Given the description of an element on the screen output the (x, y) to click on. 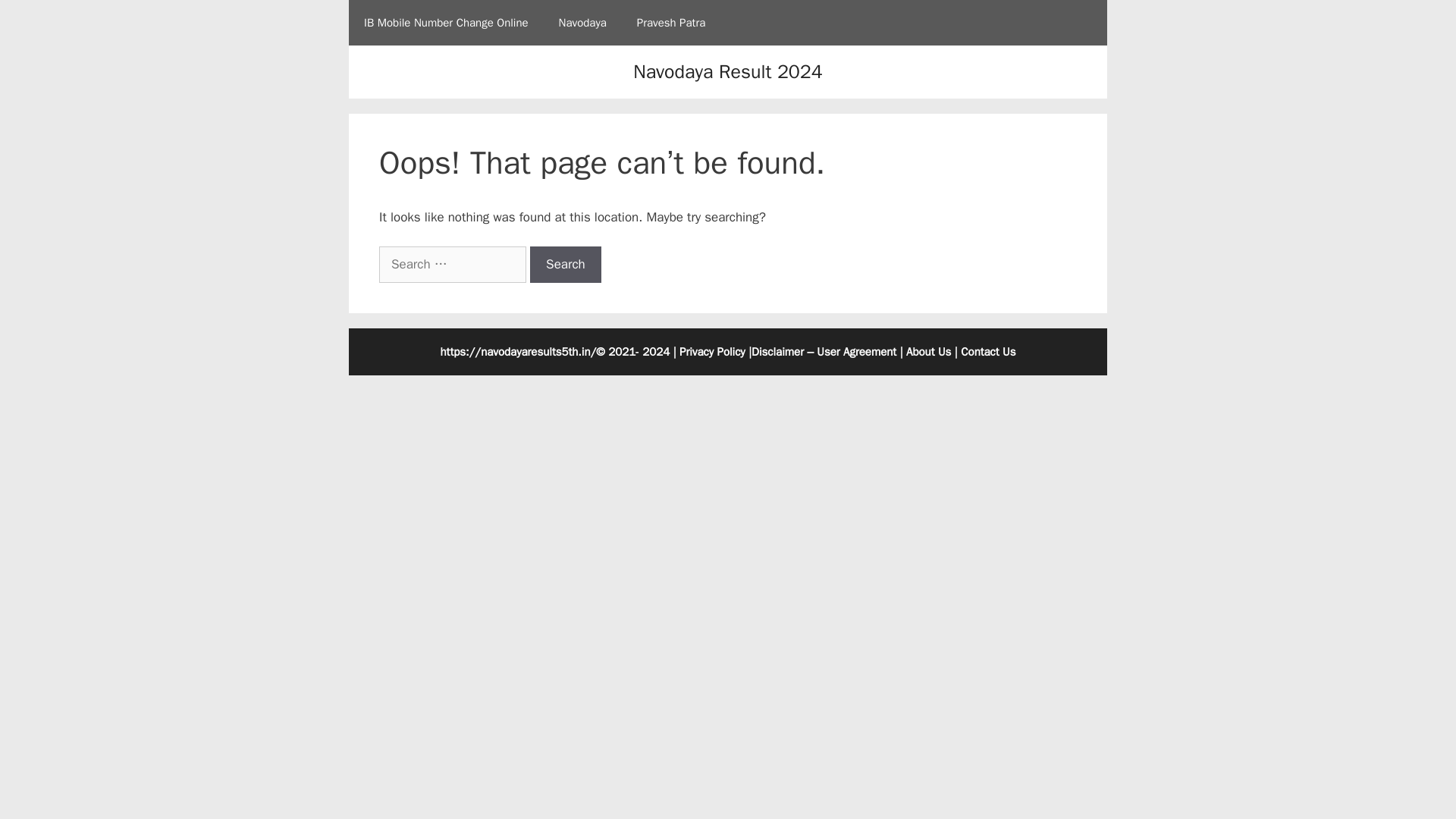
Search (565, 264)
Privacy Policy (712, 351)
Pravesh Patra (670, 22)
About Us (927, 351)
IB Mobile Number Change Online (446, 22)
Contact Us (987, 351)
Search (565, 264)
Search (565, 264)
Navodaya Result 2024 (727, 71)
Navodaya (582, 22)
Search for: (451, 264)
